Given the description of an element on the screen output the (x, y) to click on. 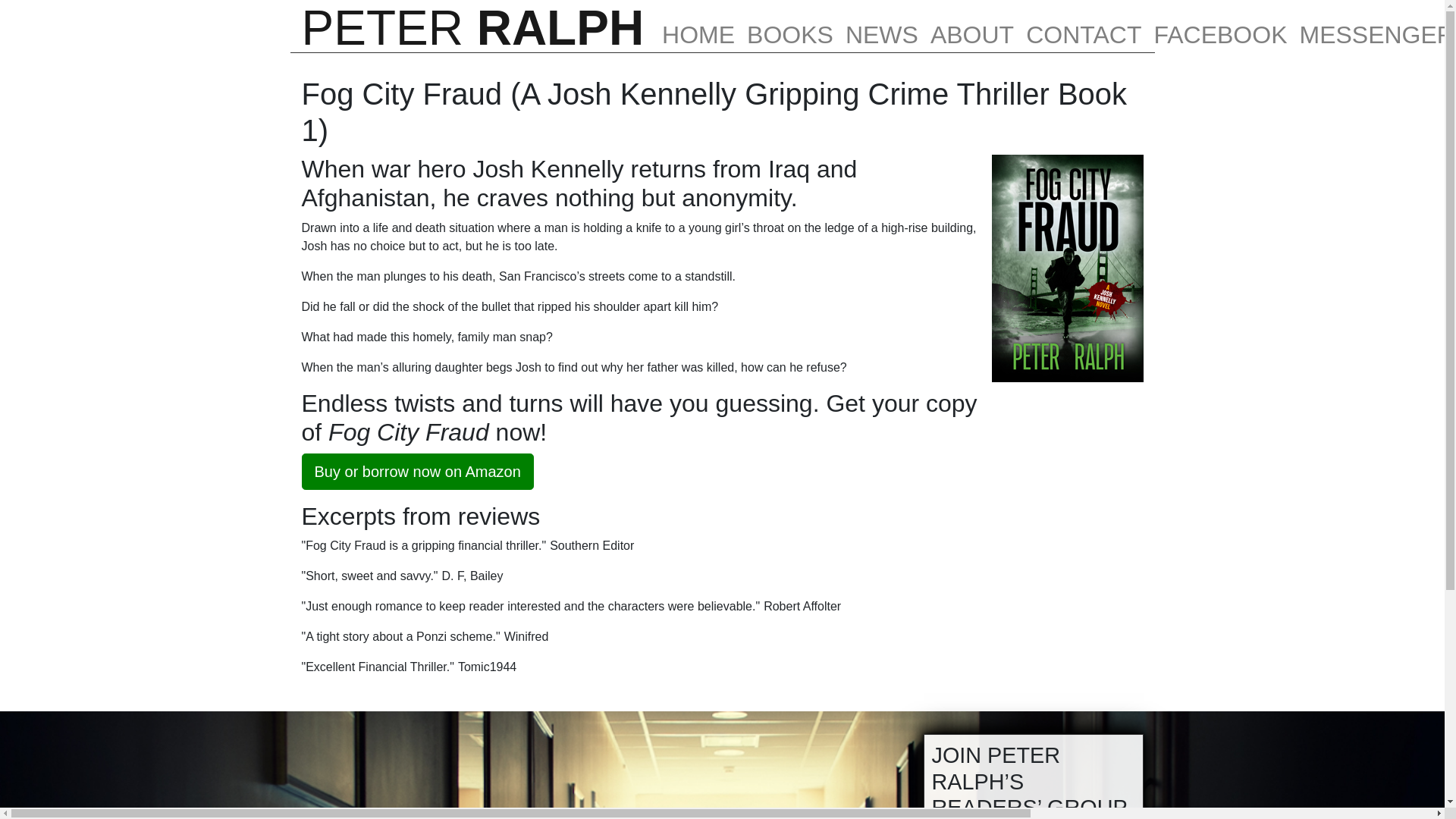
NEWS (882, 24)
BOOKS (790, 24)
CONTACT (1083, 24)
Facebook (1219, 24)
HOME (698, 24)
News (882, 24)
Peter Ralph (473, 26)
Home (698, 24)
Buy or borrow now on Amazon (417, 471)
